Given the description of an element on the screen output the (x, y) to click on. 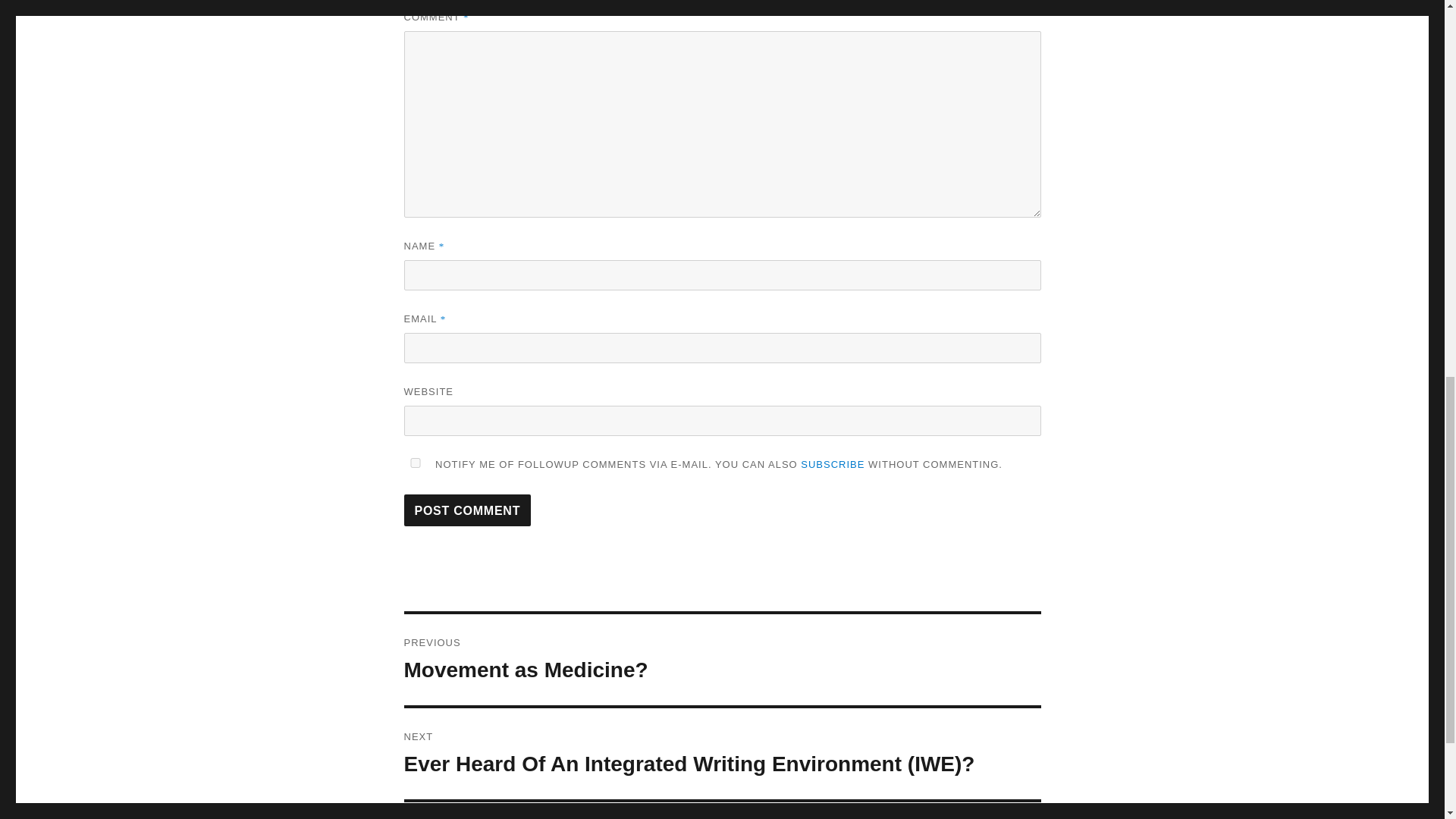
SUBSCRIBE (832, 464)
Post Comment (467, 510)
Post Comment (467, 510)
yes (722, 659)
